Given the description of an element on the screen output the (x, y) to click on. 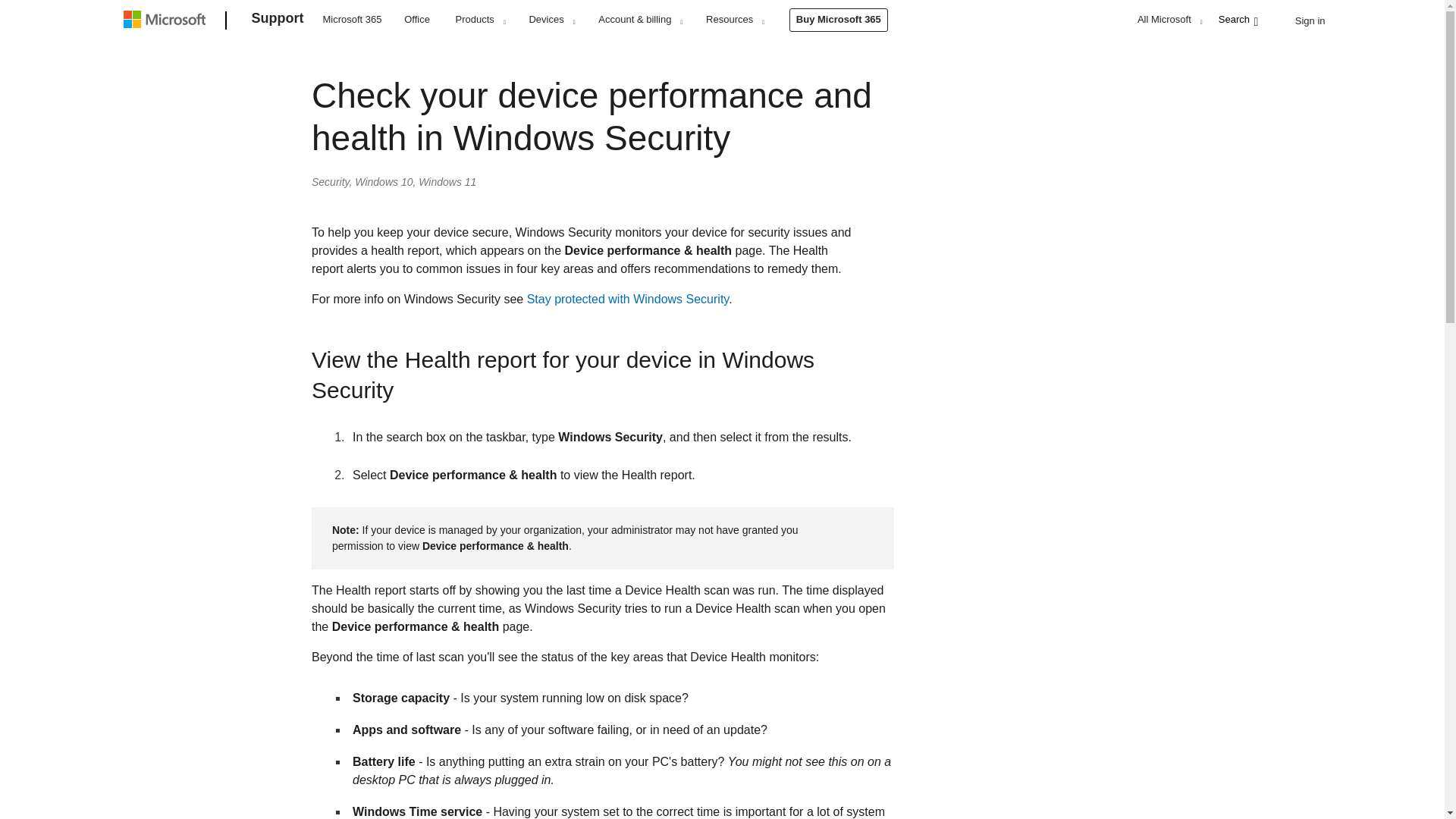
Devices (550, 18)
Microsoft 365 (351, 18)
Office (416, 18)
Resources (734, 18)
Support (277, 20)
Products (480, 18)
Microsoft (167, 20)
